Given the description of an element on the screen output the (x, y) to click on. 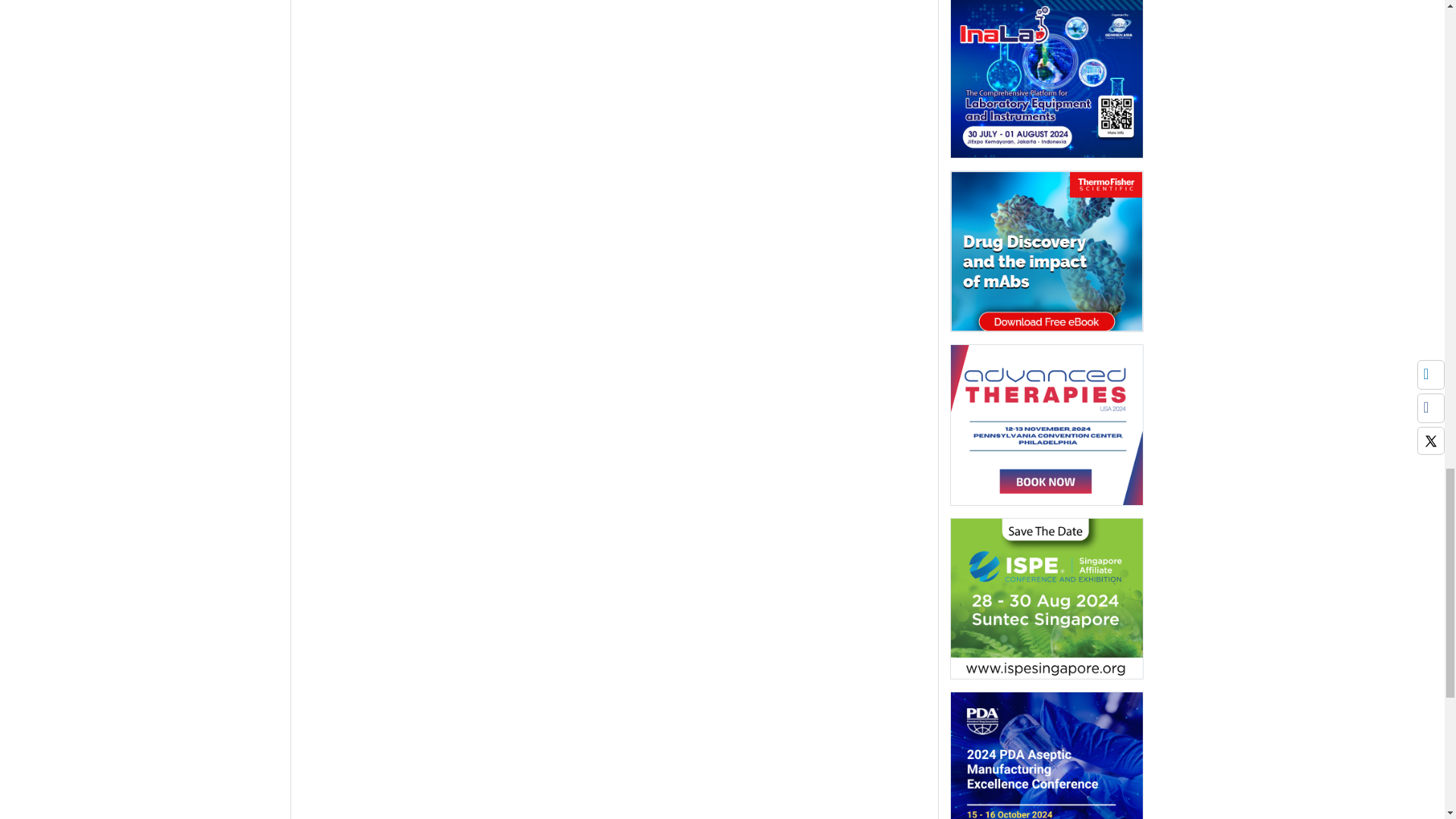
INALAB 2024 (1045, 79)
Advanced Therapies USA 2024 (1045, 429)
INALAB 2024 (1045, 82)
Thermo Fisher - Drug Discovery and the impact of mAbs (1045, 251)
Thermo Fisher - Drug Discovery and the impact of mAbs (1045, 256)
